Given the description of an element on the screen output the (x, y) to click on. 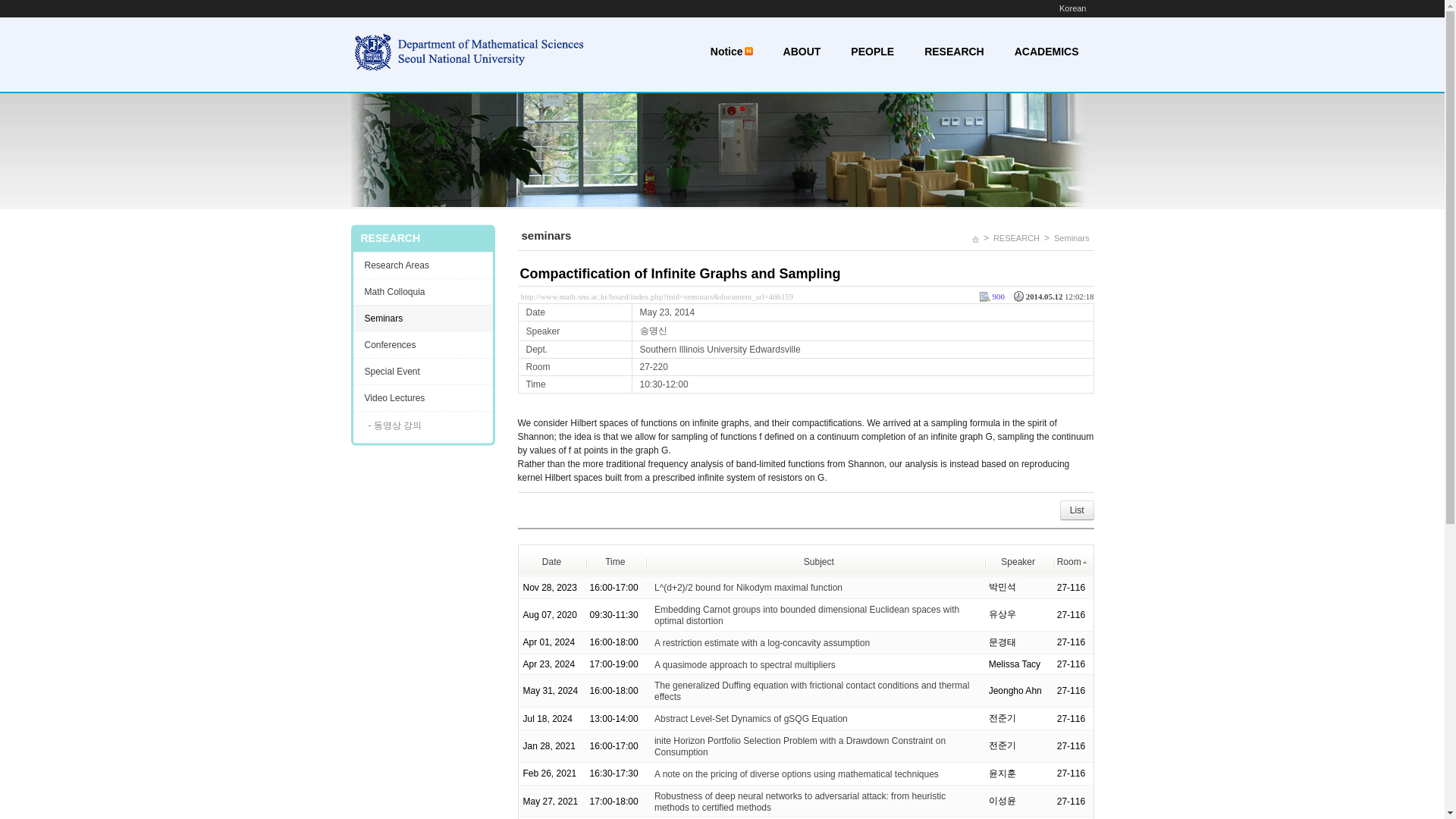
Compactification of Infinite Graphs and Sampling (680, 273)
Korean (1072, 8)
Views (991, 296)
RESEARCH (954, 53)
PEOPLE (872, 53)
Seminars (1071, 238)
new (748, 50)
Time (614, 561)
Speaker (1018, 561)
RESEARCH (1015, 238)
